Given the description of an element on the screen output the (x, y) to click on. 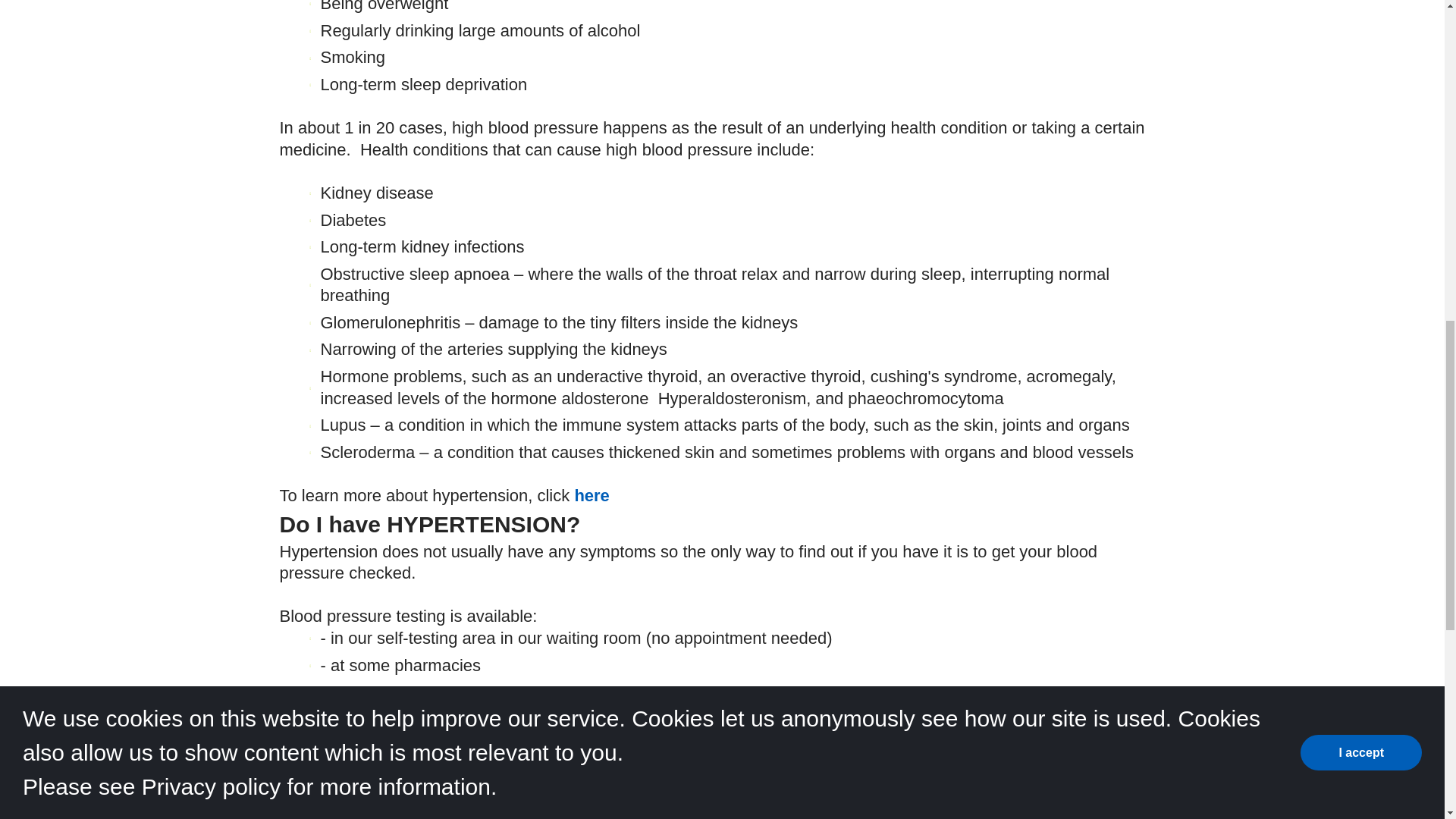
here (590, 495)
